Given the description of an element on the screen output the (x, y) to click on. 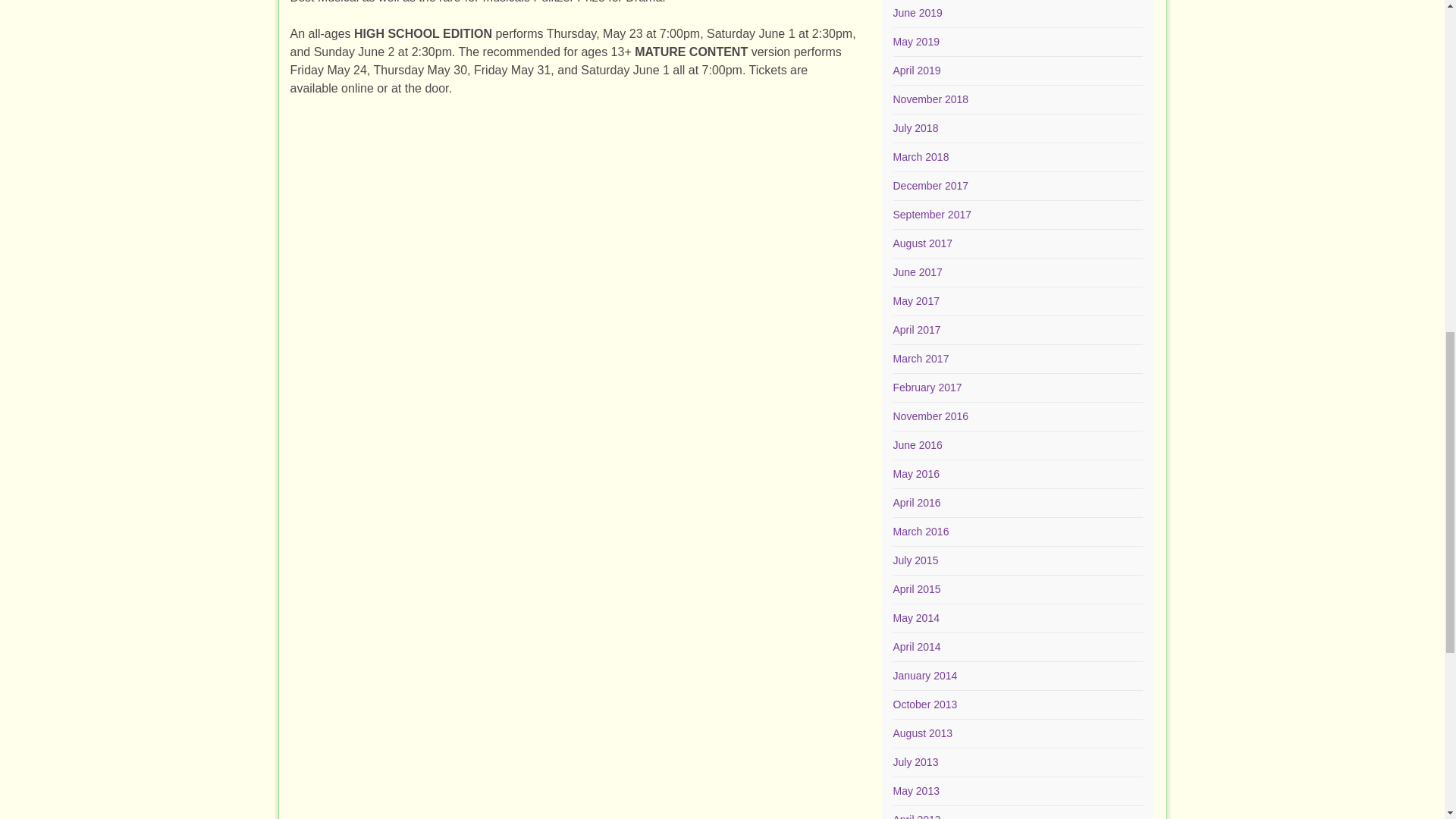
December 2017 (931, 185)
July 2018 (916, 128)
June 2019 (917, 12)
April 2019 (916, 70)
May 2019 (916, 41)
November 2018 (931, 99)
March 2018 (921, 156)
